Given the description of an element on the screen output the (x, y) to click on. 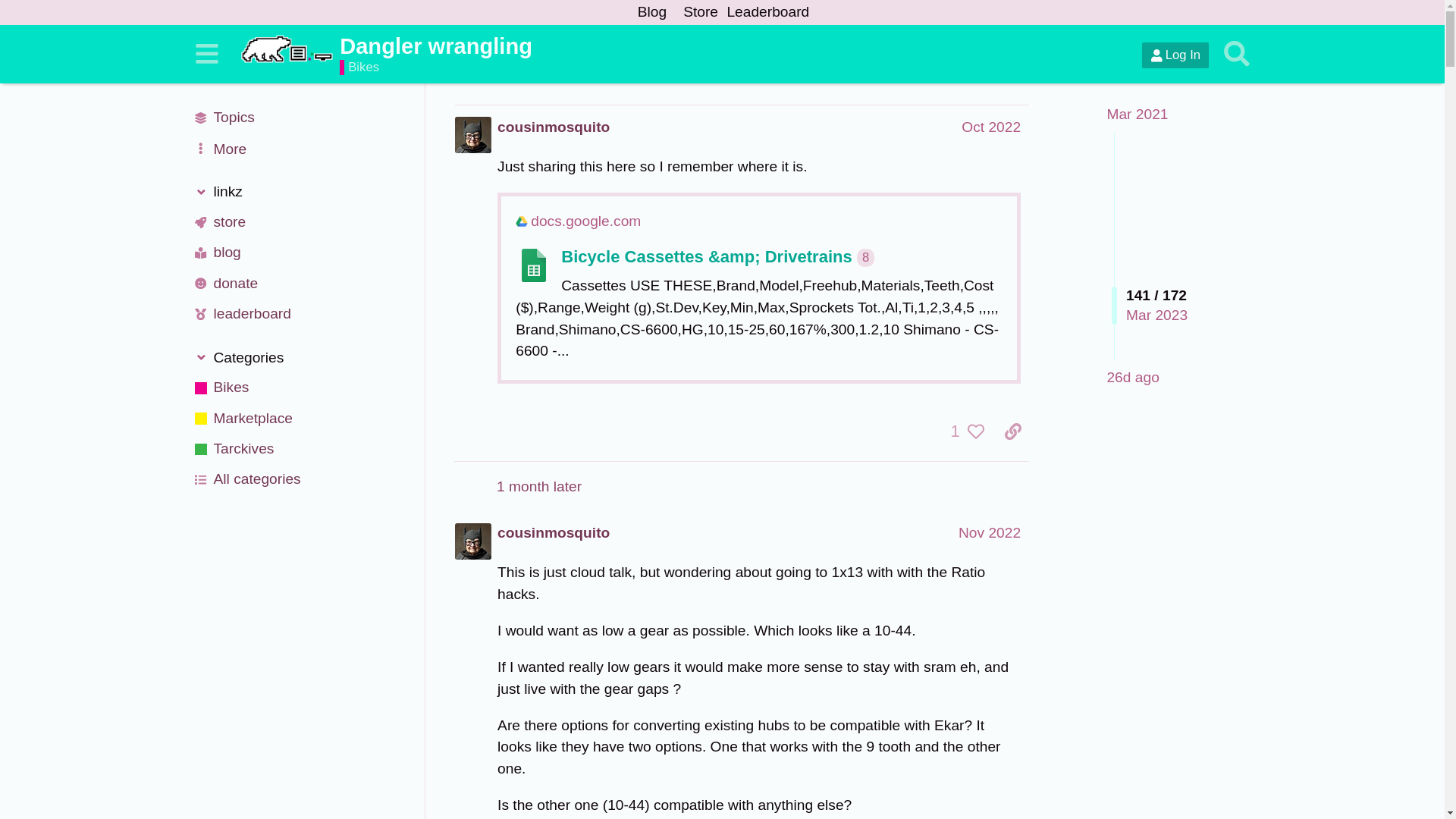
Categories (300, 357)
Search (1236, 53)
Mar 2021 (1136, 114)
Toggle section (300, 357)
All categories (300, 480)
Toggle section (300, 191)
store (300, 222)
8 clicks (866, 257)
Blog (651, 11)
Store (700, 11)
cousinmosquito (553, 127)
Log In (1174, 54)
Tarckives (300, 449)
Jump to the first post (1136, 114)
blog (300, 253)
